Given the description of an element on the screen output the (x, y) to click on. 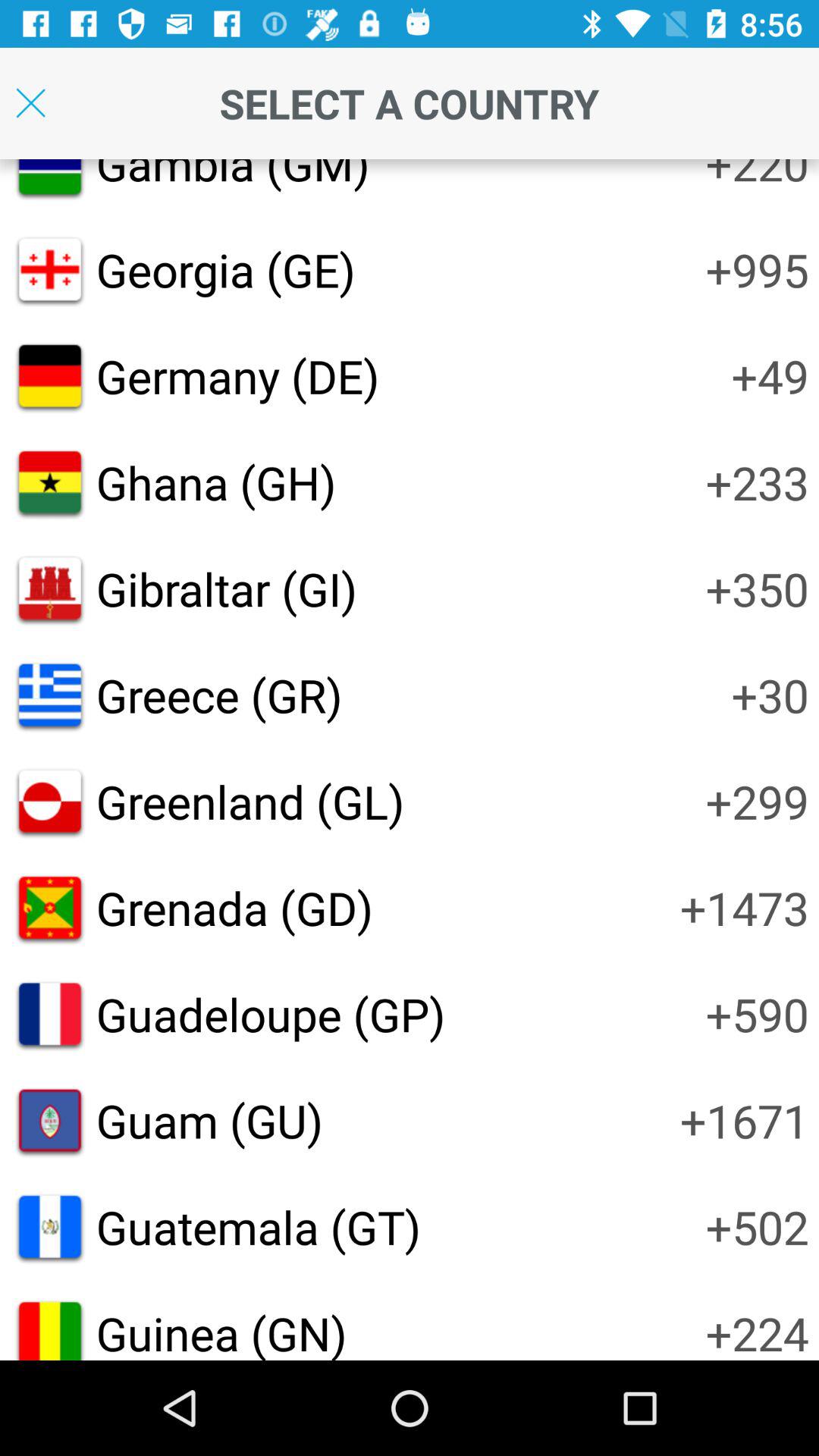
open guadeloupe (gp) (270, 1013)
